Given the description of an element on the screen output the (x, y) to click on. 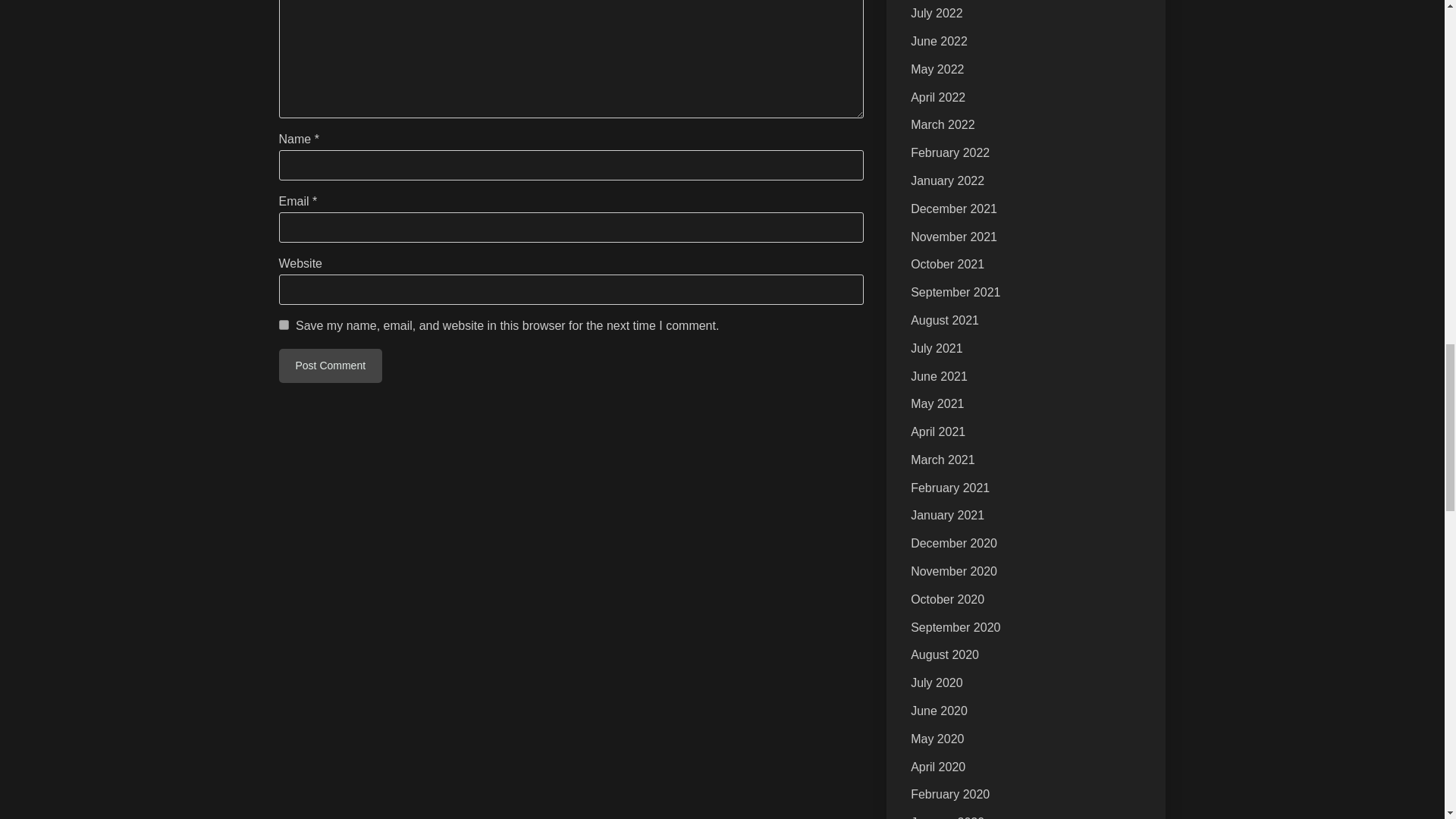
yes (283, 325)
Post Comment (330, 365)
Post Comment (330, 365)
